Given the description of an element on the screen output the (x, y) to click on. 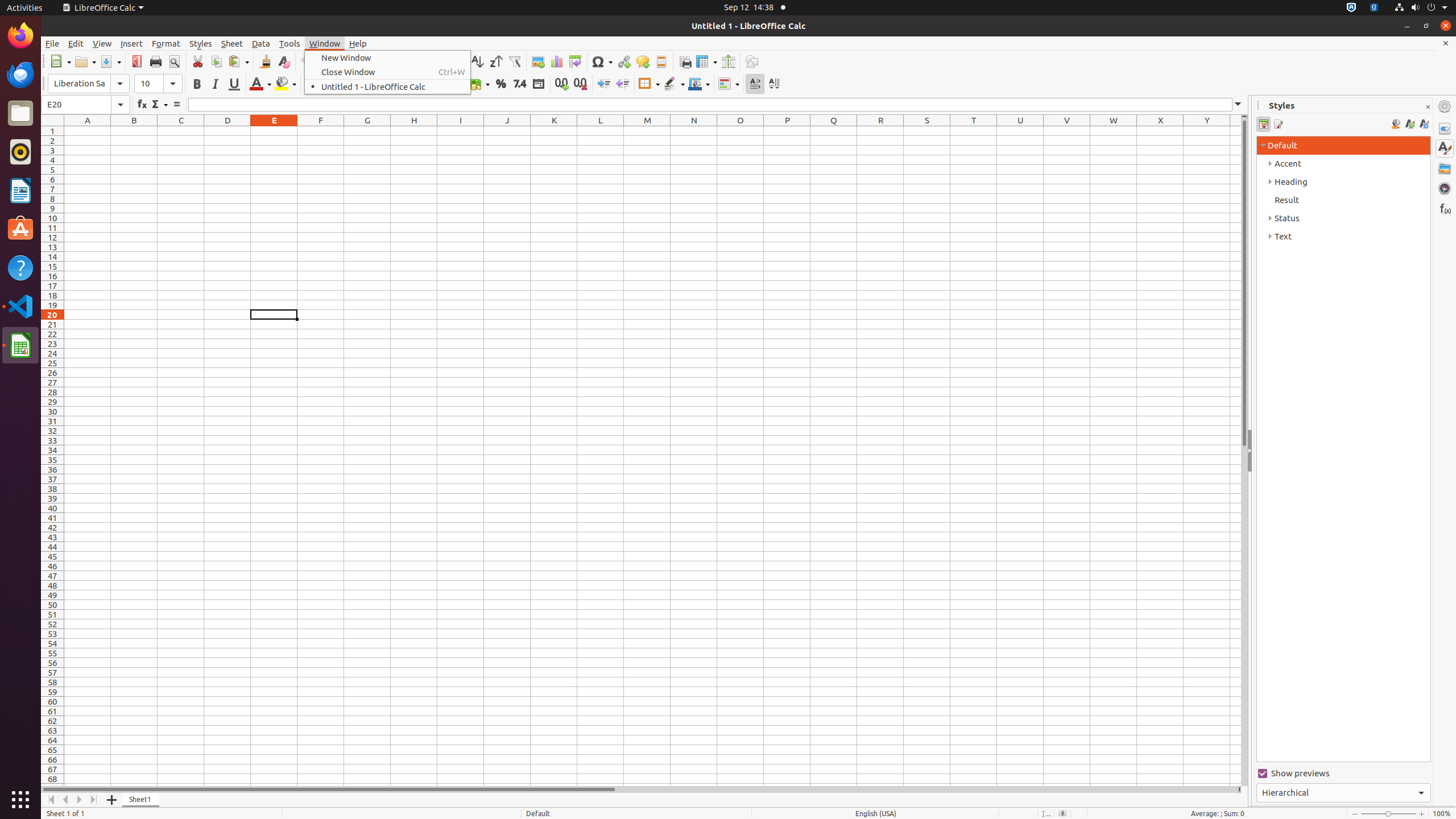
Formula Element type: push-button (176, 104)
Function Wizard Element type: push-button (141, 104)
Number Element type: push-button (519, 83)
New Style from Selection Element type: push-button (1409, 123)
Freeze Rows and Columns Element type: push-button (705, 61)
